Given the description of an element on the screen output the (x, y) to click on. 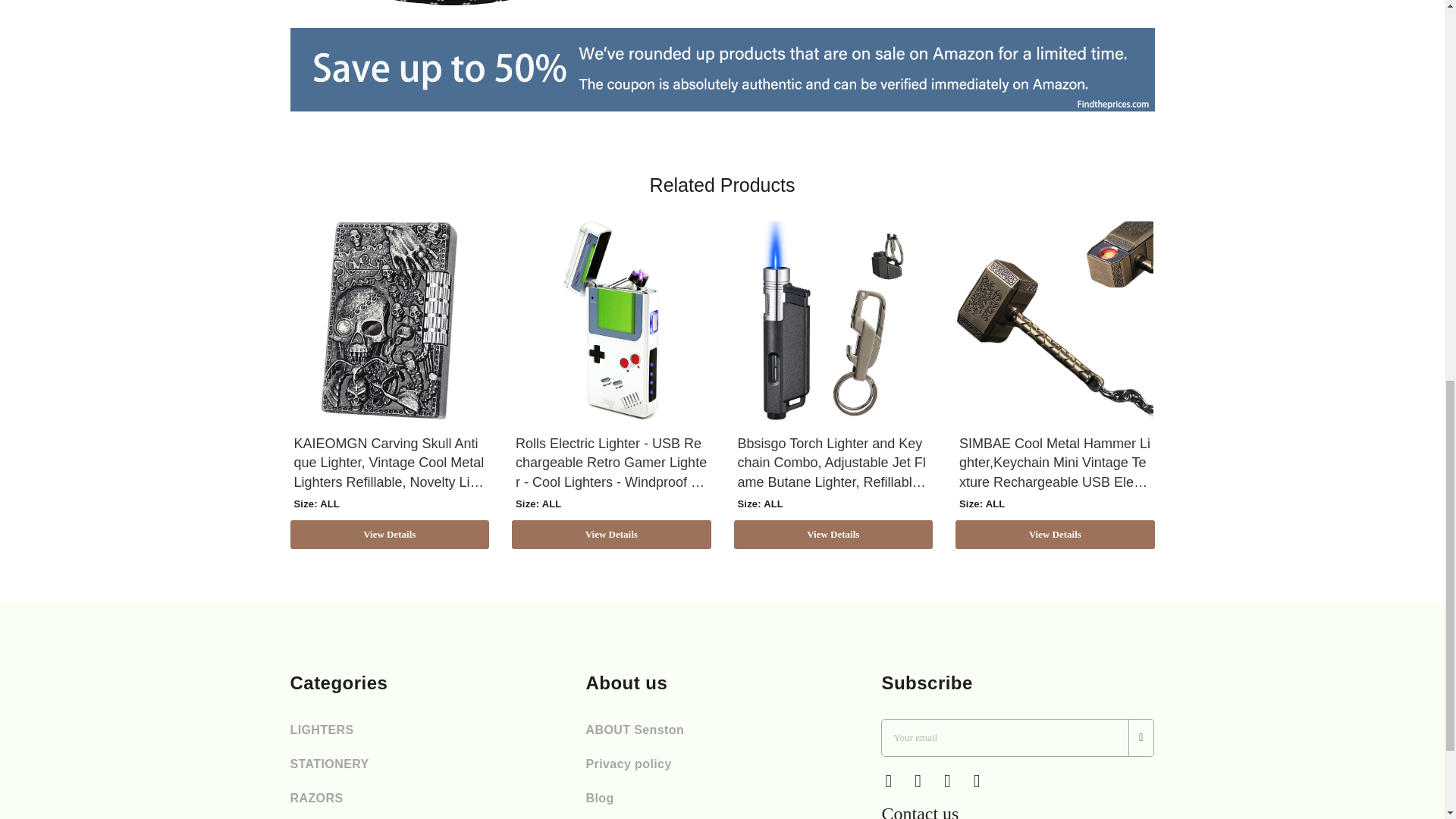
View Details (611, 534)
View Details (389, 534)
View Details (833, 534)
